Given the description of an element on the screen output the (x, y) to click on. 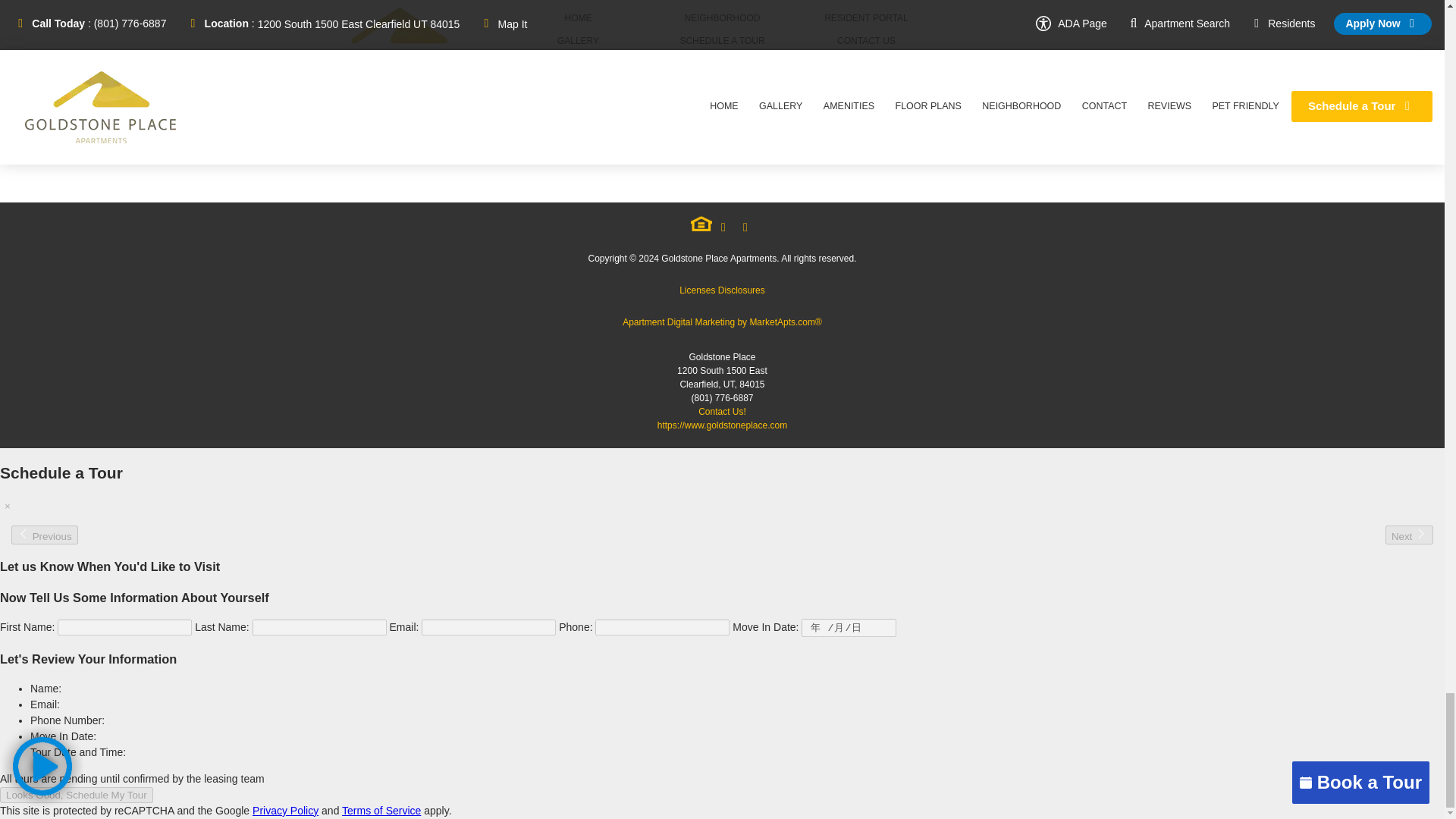
Goldstone Place in Clearfield, UT (398, 43)
